Given the description of an element on the screen output the (x, y) to click on. 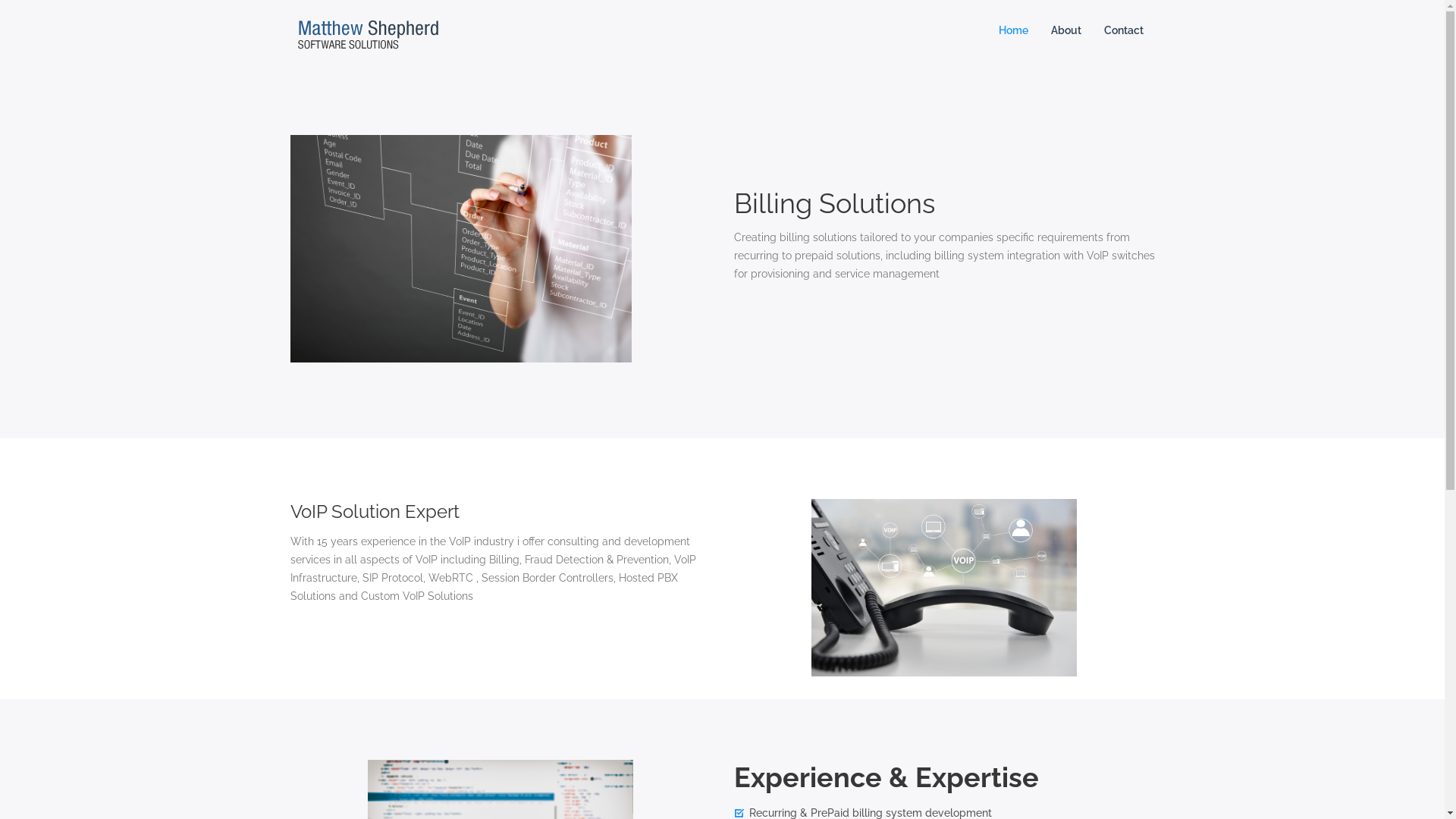
Contact Element type: text (1123, 30)
About Element type: text (1065, 30)
Home Element type: text (1013, 30)
